Given the description of an element on the screen output the (x, y) to click on. 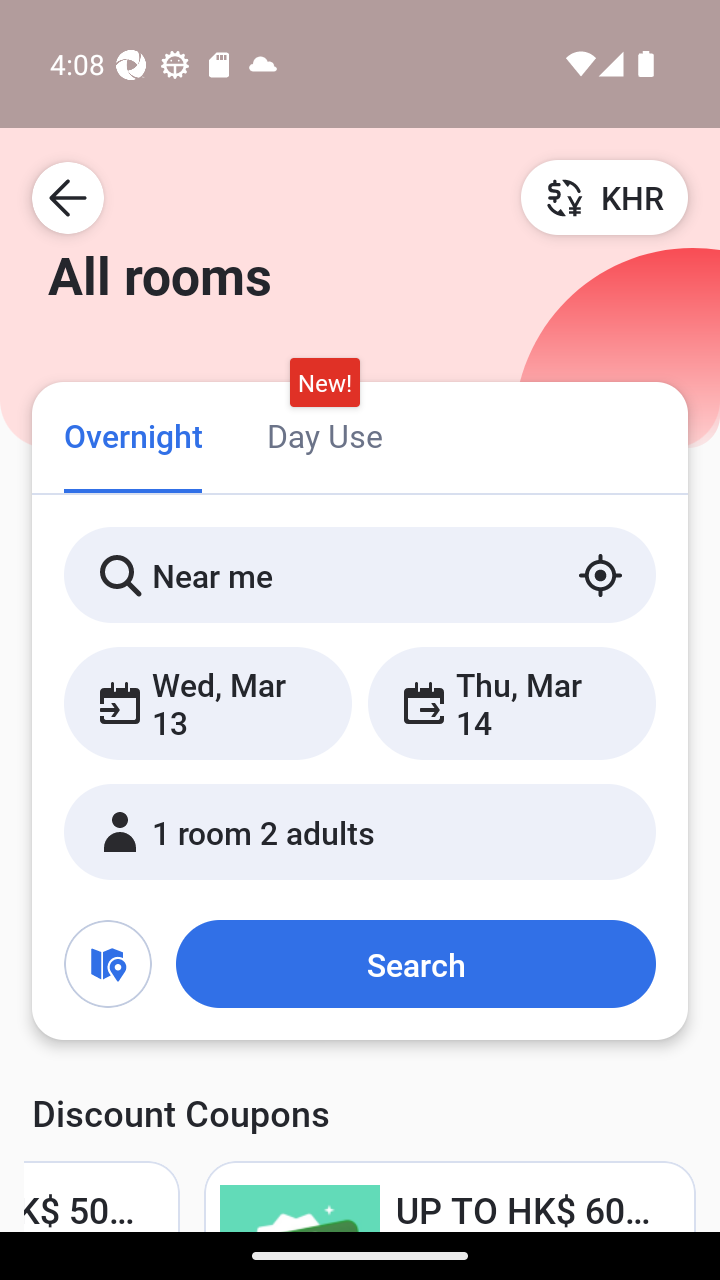
KHR (604, 197)
New! (324, 383)
Day Use (324, 434)
Near me (359, 575)
Wed, Mar 13 (208, 703)
Thu, Mar 14 (511, 703)
1 room 2 adults (359, 831)
Search (415, 964)
